Given the description of an element on the screen output the (x, y) to click on. 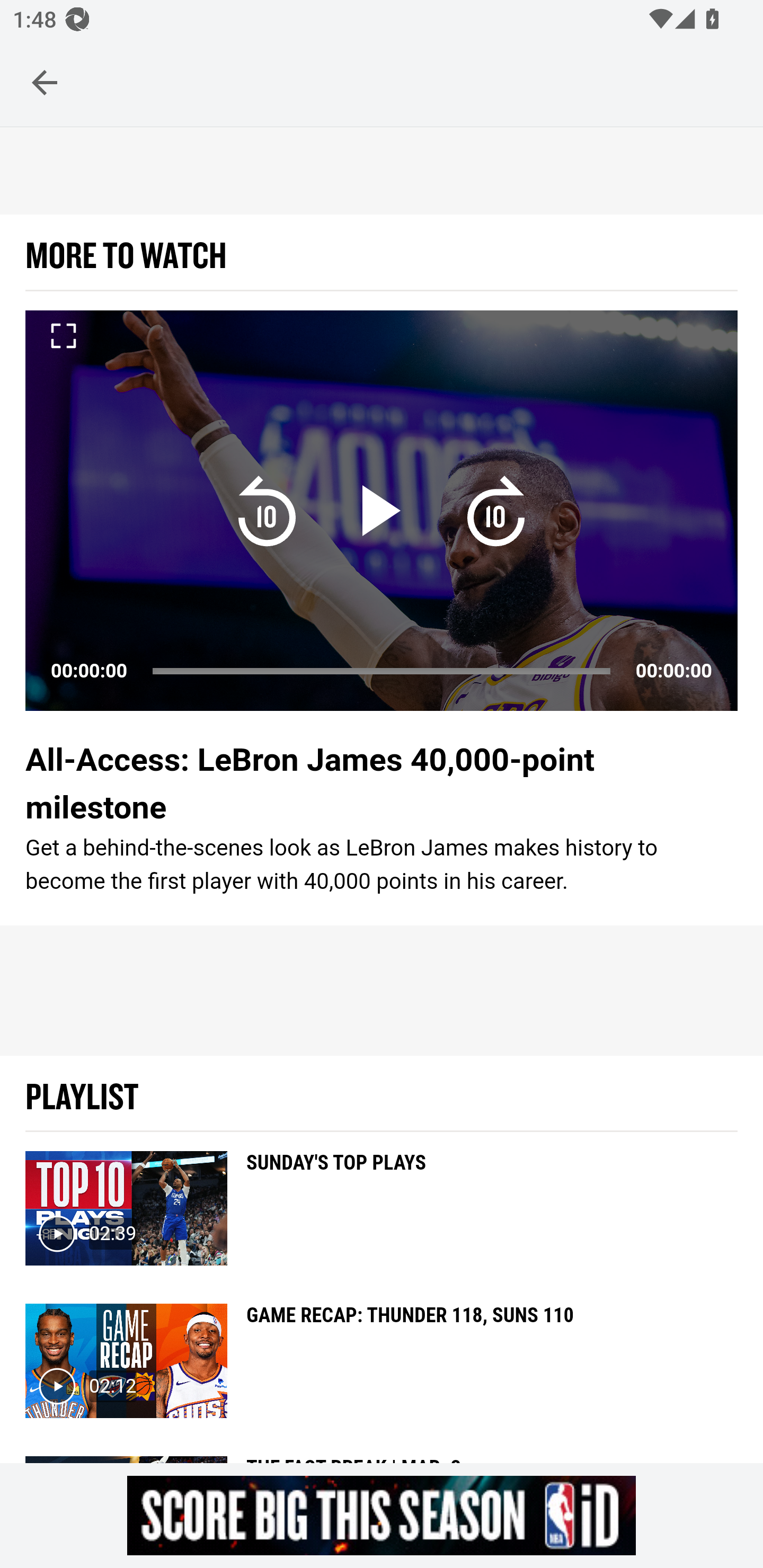
Navigate up (44, 82)
Unable to play media. (381, 510)
Full screen keyboard shortcut f (63, 336)
Skip back 10 seconds keyboard shortcut j (266, 510)
play (381, 510)
Skip forward 10 seconds keyboard shortcut l (495, 510)
 of , Seek Slider (381, 671)
SUNDAY'S TOP PLAYS (336, 1202)
GAME RECAP: THUNDER 118, SUNS 110 (409, 1354)
